Given the description of an element on the screen output the (x, y) to click on. 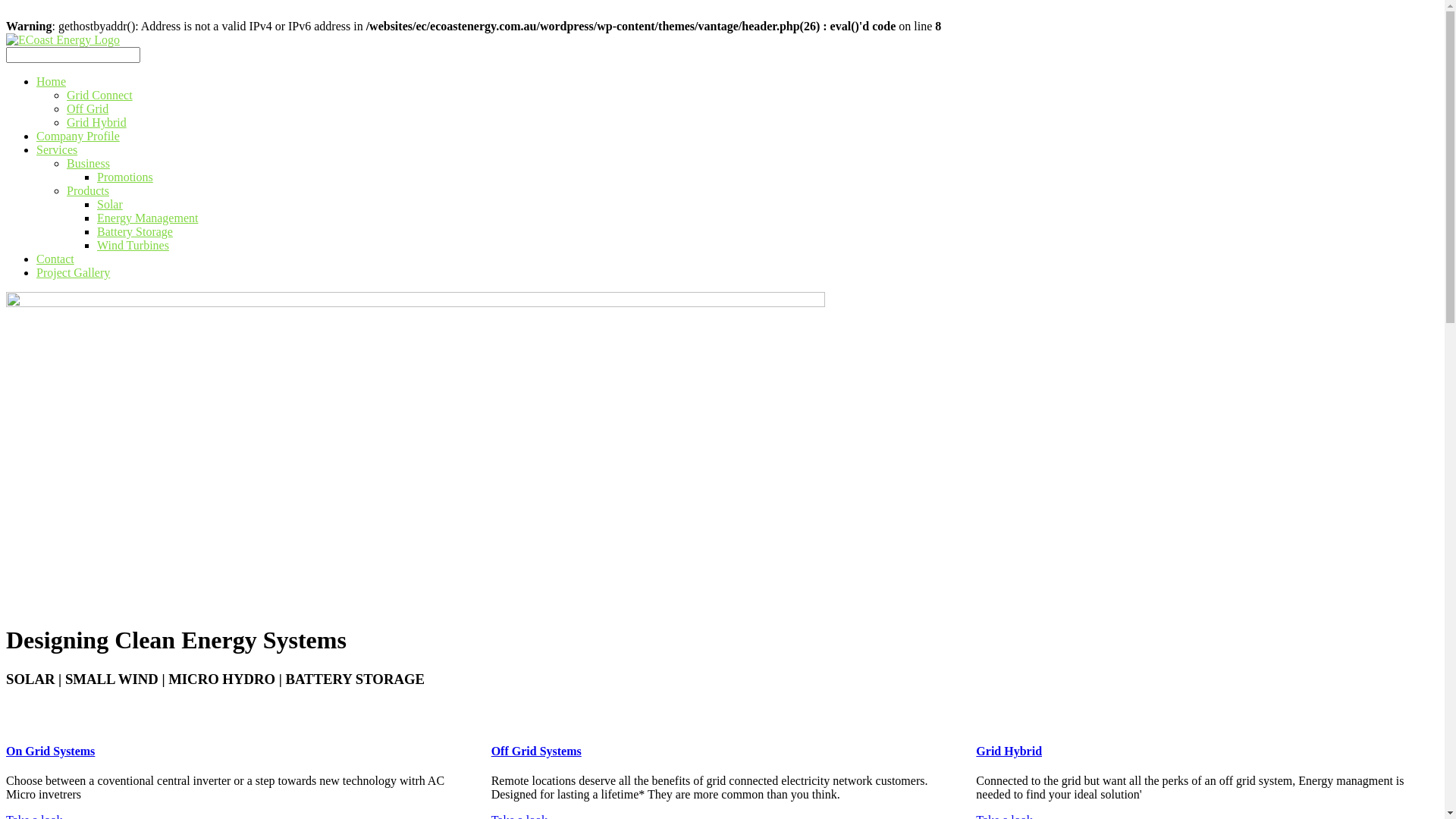
Products Element type: text (87, 190)
Contact Element type: text (55, 258)
Solar Element type: text (109, 203)
Wind Turbines Element type: text (133, 244)
Business Element type: text (87, 162)
Off Grid Element type: text (87, 108)
Grid Hybrid Element type: text (96, 122)
Grid Connect Element type: text (99, 94)
On Grid Systems Element type: text (237, 751)
Company Profile Element type: text (77, 135)
Energy Management Element type: text (147, 217)
Grid Hybrid Element type: text (1206, 751)
Battery Storage Element type: text (134, 231)
ECoast Energy Element type: hover (62, 39)
Home Element type: text (50, 81)
Project Gallery Element type: text (72, 272)
Services Element type: text (56, 149)
Promotions Element type: text (125, 176)
Off Grid Systems Element type: text (722, 751)
